Given the description of an element on the screen output the (x, y) to click on. 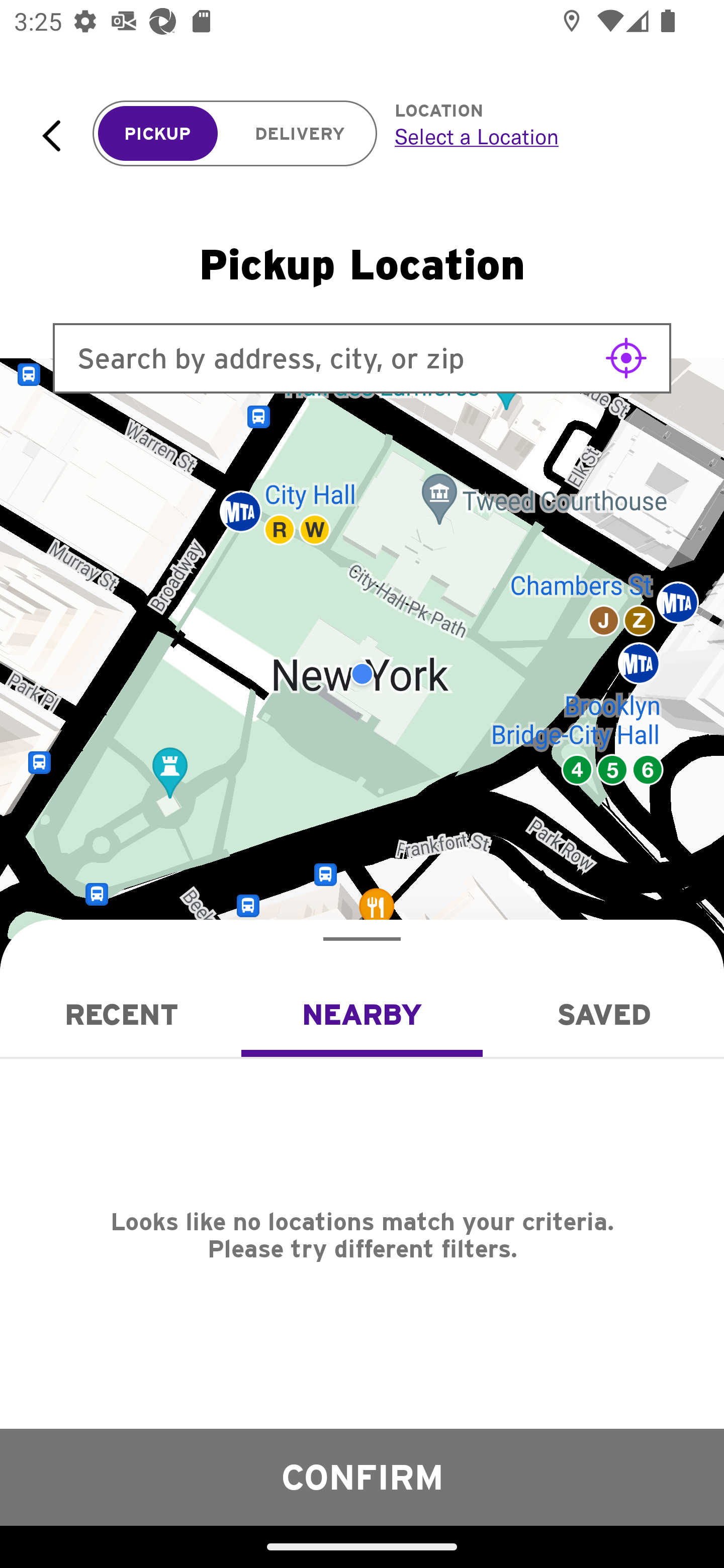
PICKUP (157, 133)
DELIVERY (299, 133)
Select a Location (536, 136)
Search by address, city, or zip (361, 358)
Google Map (362, 674)
Recent RECENT (120, 1014)
Saved SAVED (603, 1014)
CONFIRM (362, 1476)
